Given the description of an element on the screen output the (x, y) to click on. 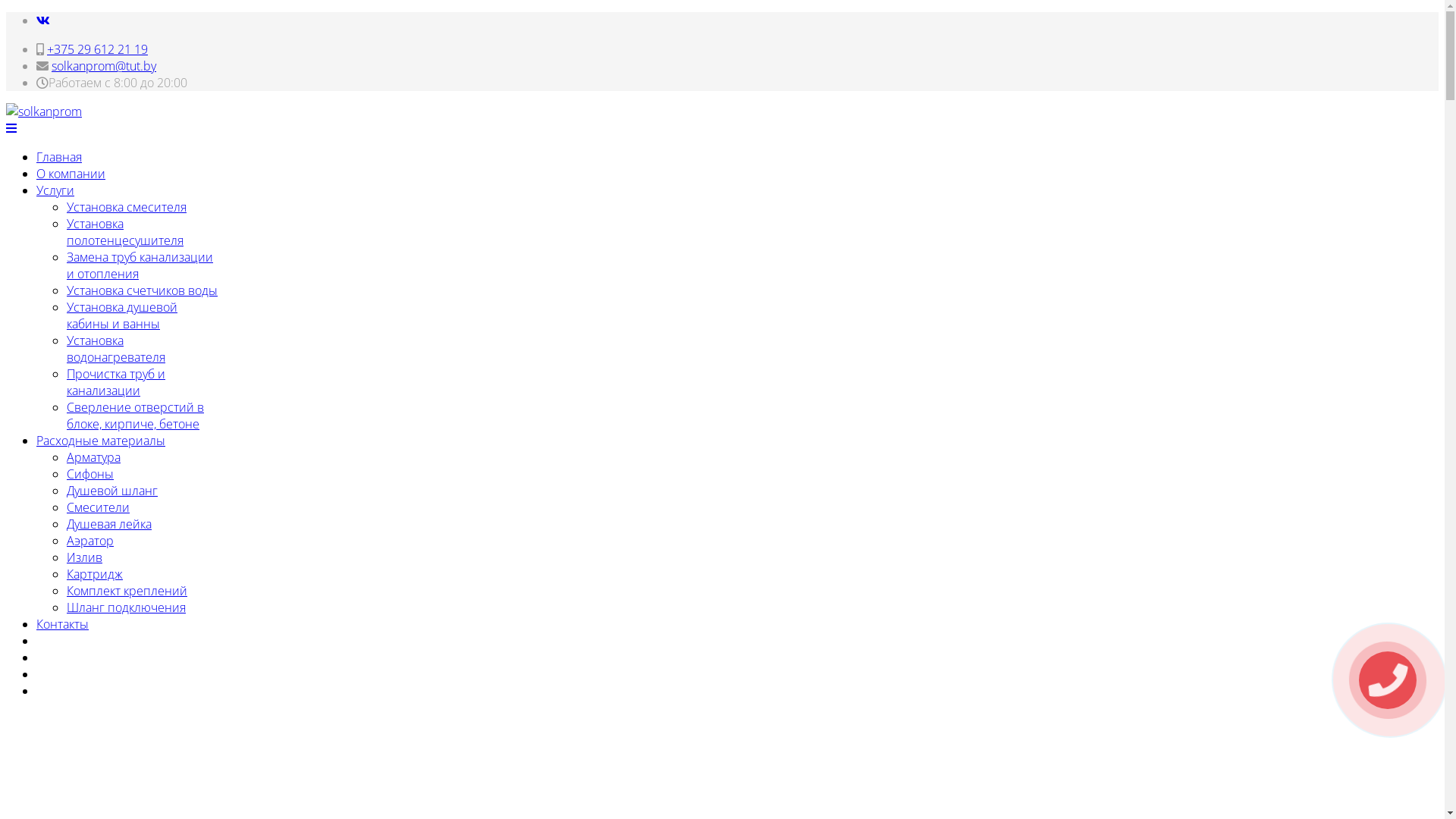
Helix3 Megamenu Options Element type: hover (11, 128)
+375 29 612 21 19 Element type: text (97, 48)
solkanprom@tut.by Element type: text (103, 65)
